Given the description of an element on the screen output the (x, y) to click on. 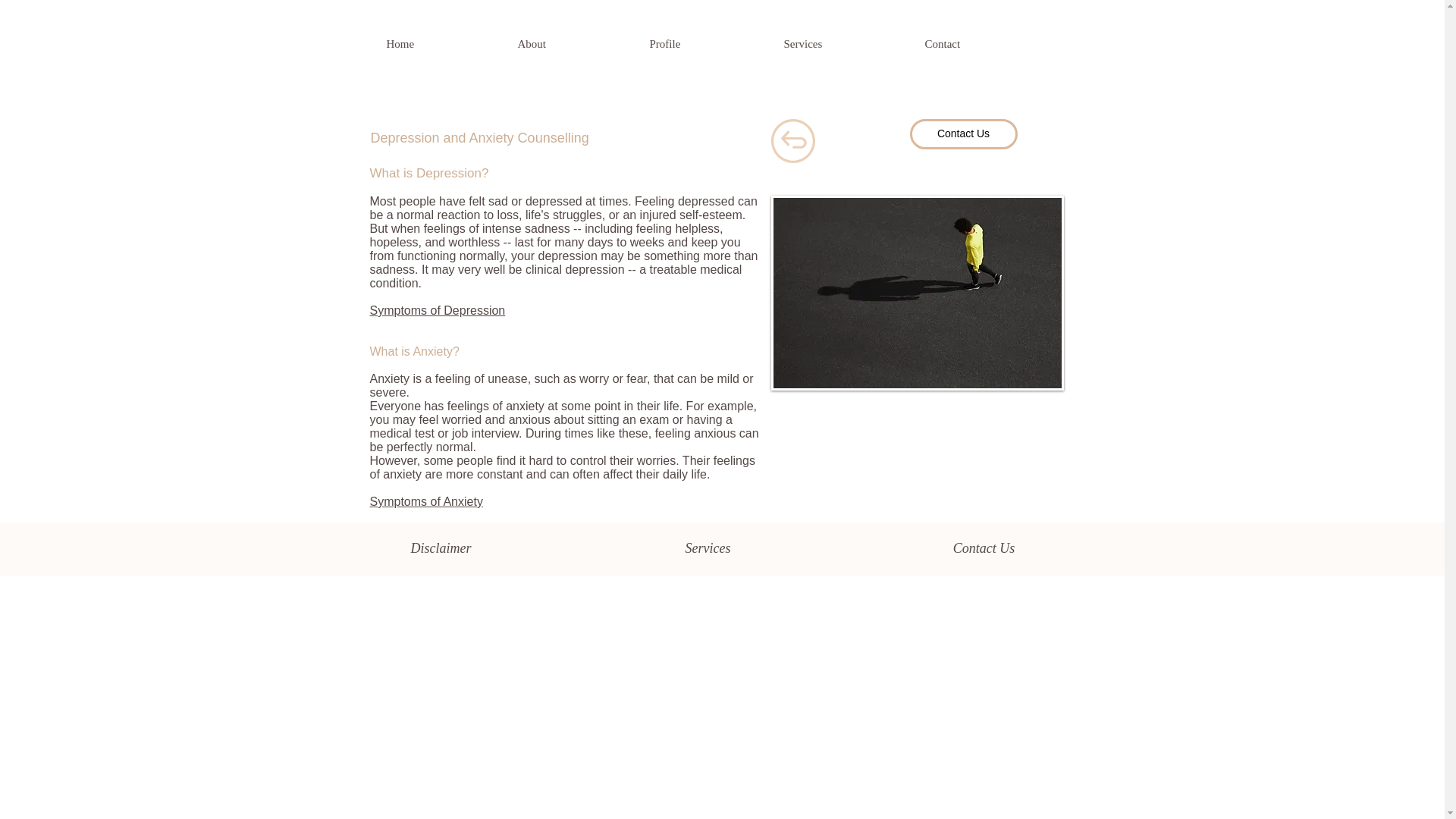
Disclaimer (441, 548)
About (575, 44)
Services (846, 44)
Symptoms of Anxiety (426, 501)
Contact Us (983, 548)
Services (707, 548)
Home (444, 44)
Profile (709, 44)
Symptoms of Depression (437, 316)
Contact Us (963, 133)
